Given the description of an element on the screen output the (x, y) to click on. 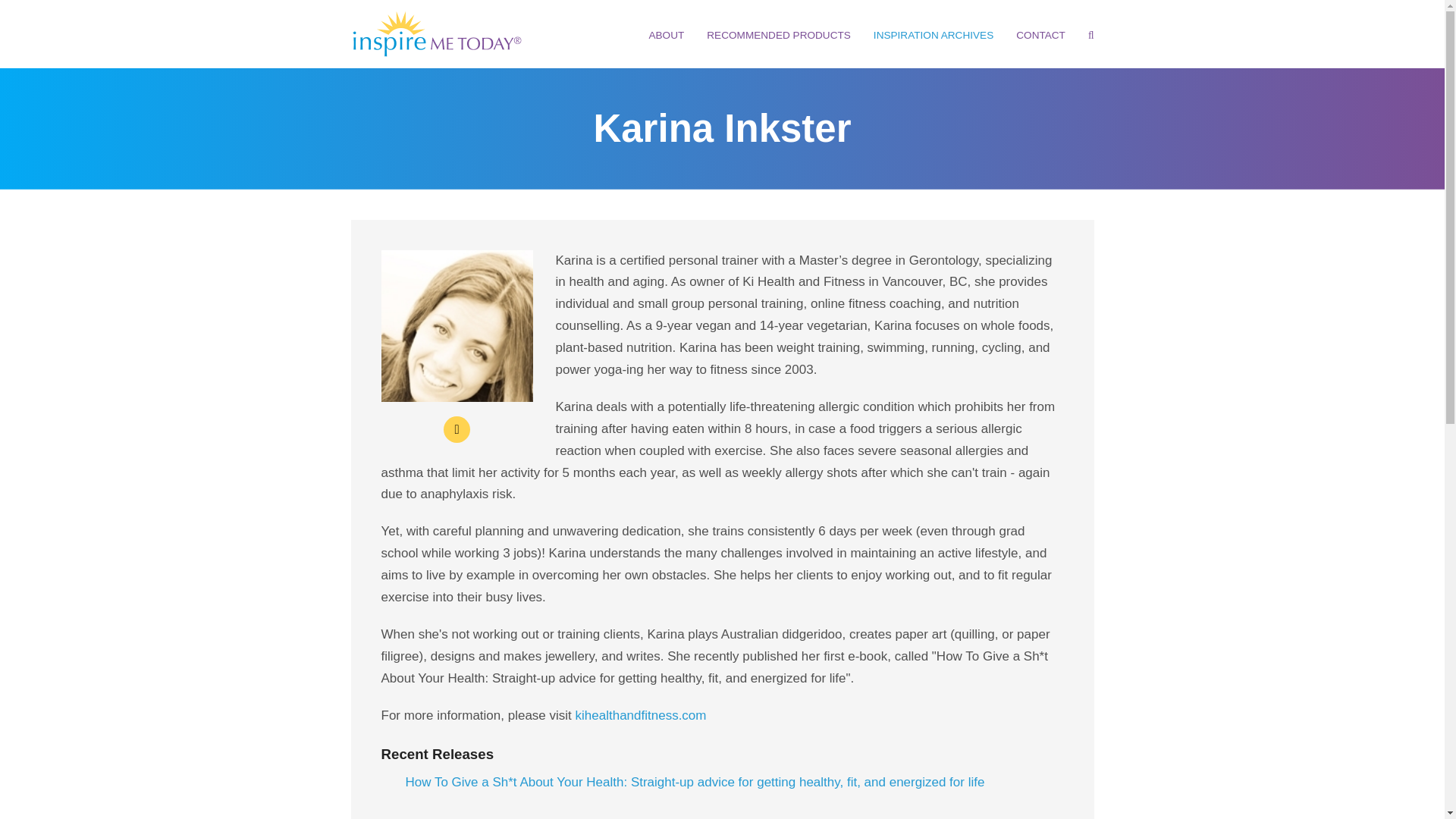
INSPIRATION ARCHIVES (932, 35)
CONTACT (1040, 35)
RECOMMENDED PRODUCTS (778, 35)
kihealthandfitness.com (640, 715)
ABOUT (666, 35)
